Given the description of an element on the screen output the (x, y) to click on. 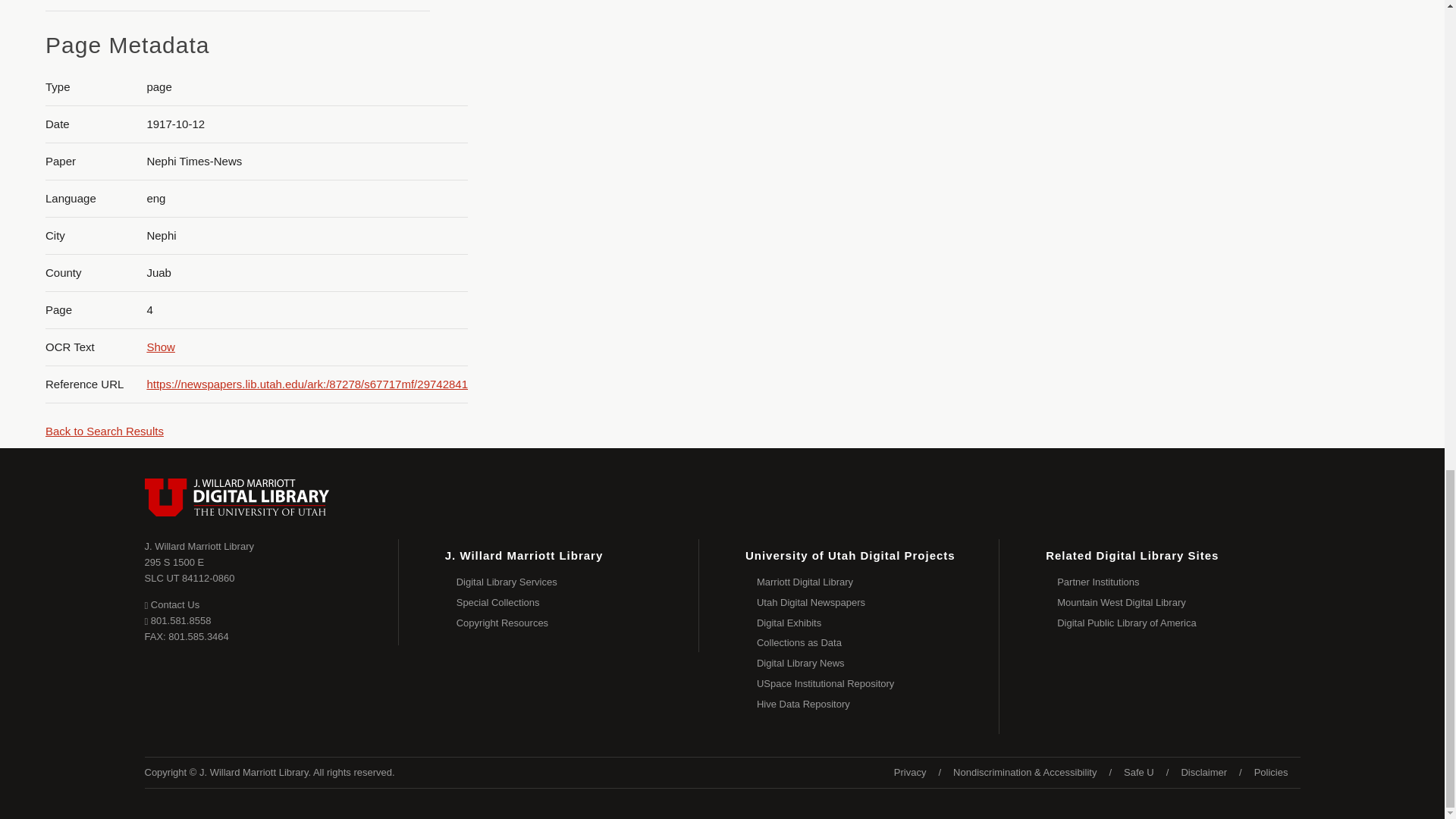
Show (160, 346)
J. Willard Marriott Library (198, 546)
Contact Us (189, 569)
Back to Search Results (171, 604)
Page 7 (104, 431)
Digital Library Services (1299, 34)
Page 8 (577, 582)
